Given the description of an element on the screen output the (x, y) to click on. 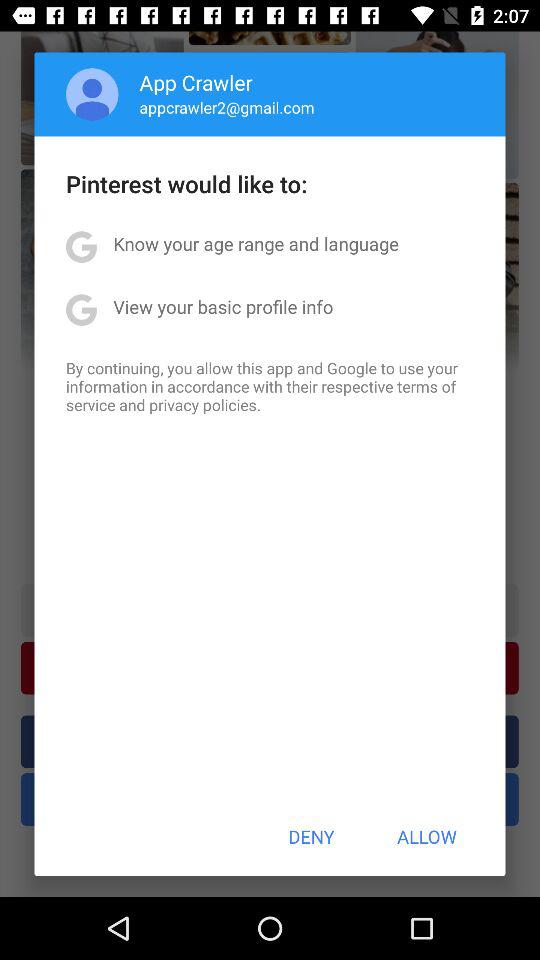
open item to the left of the allow button (311, 836)
